Given the description of an element on the screen output the (x, y) to click on. 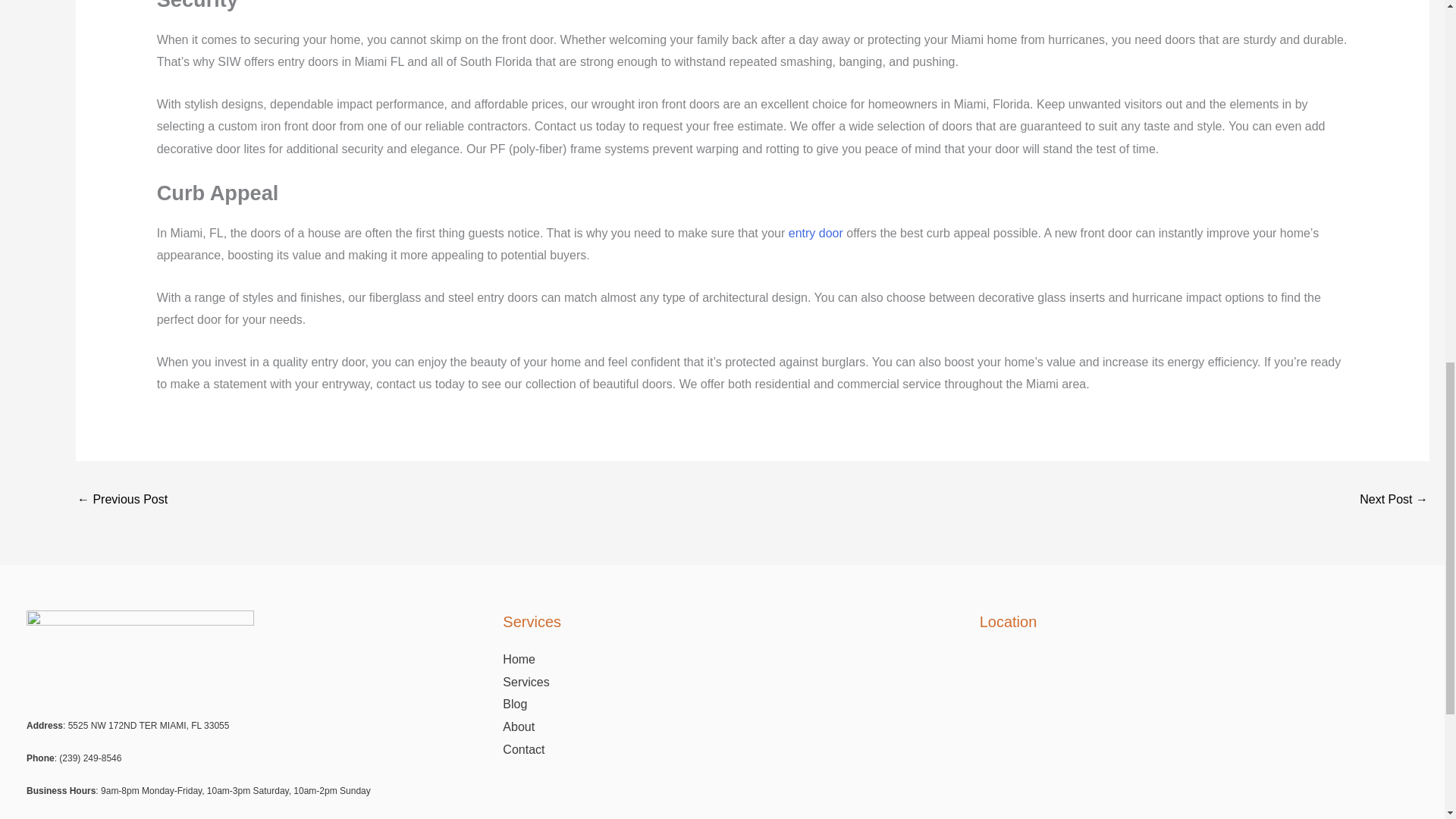
Add Dimension to Your Rooms With Bay Windows (122, 500)
